Given the description of an element on the screen output the (x, y) to click on. 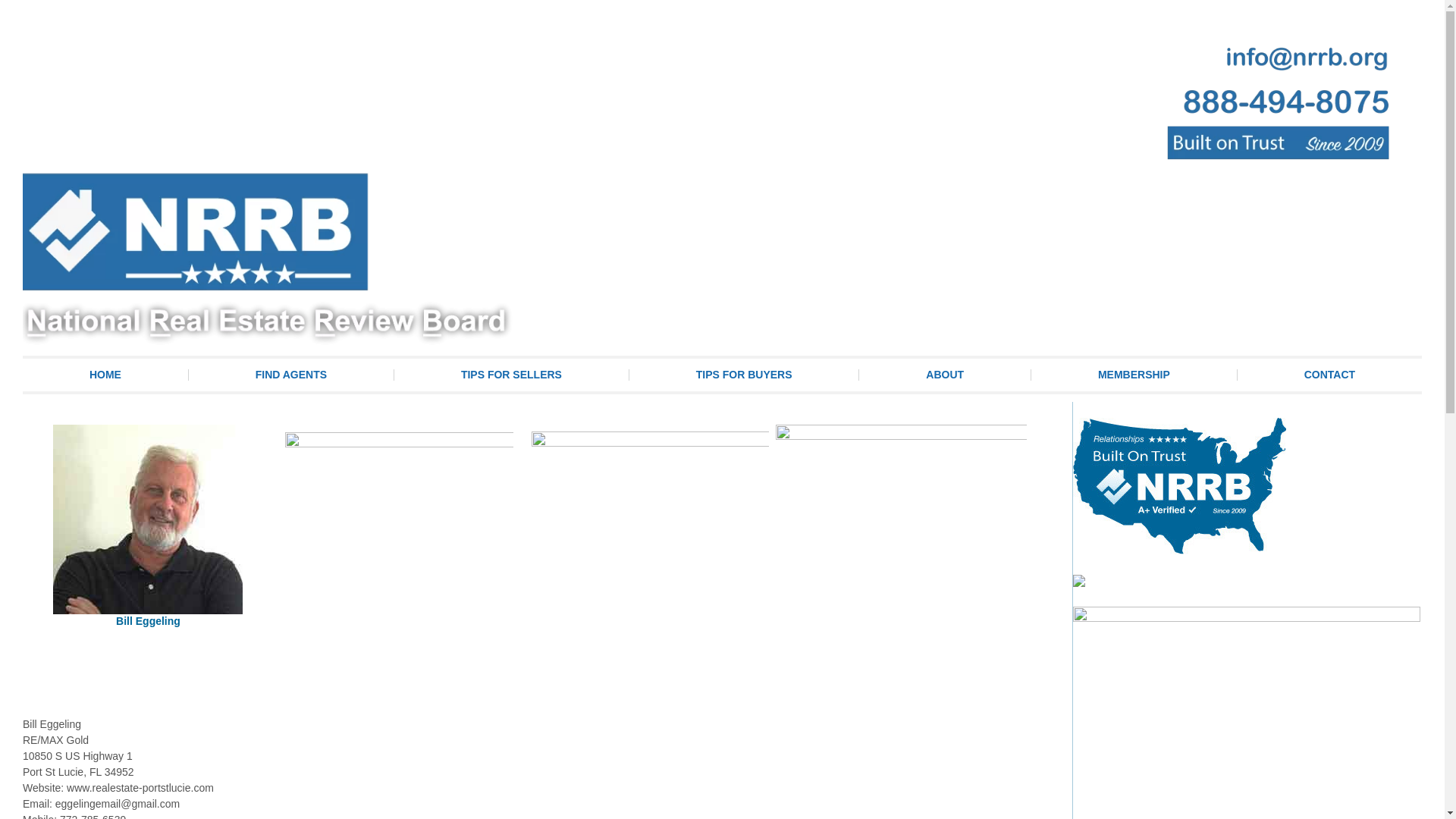
CONTACT (1329, 374)
MEMBERSHIP (1133, 374)
Picture of Realtors (1121, 582)
Decorative Map (1179, 485)
TIPS FOR BUYERS (743, 374)
TIPS FOR SELLERS (511, 374)
FIND AGENTS (291, 374)
ABOUT (944, 374)
HOME (105, 374)
